Given the description of an element on the screen output the (x, y) to click on. 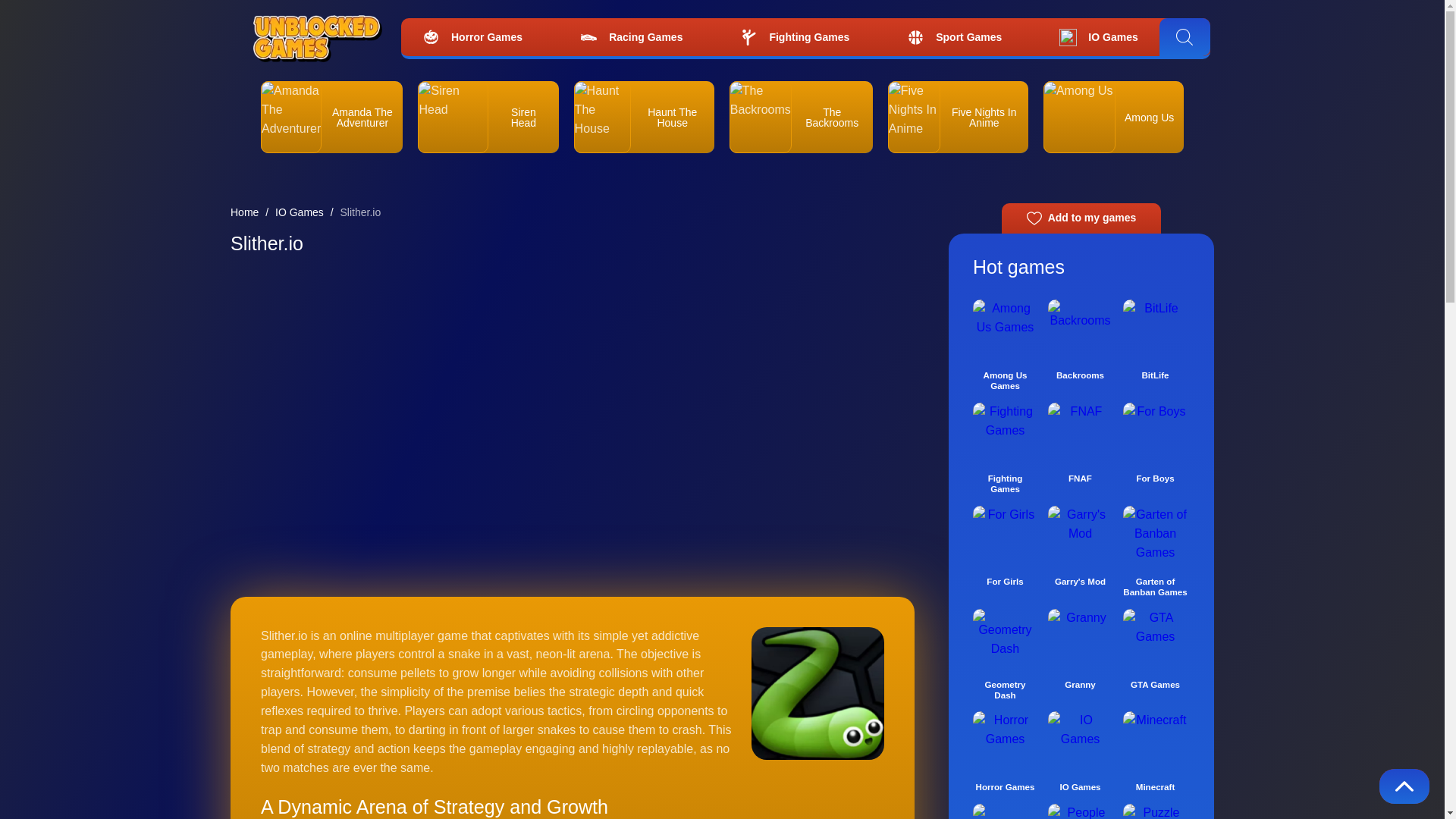
Siren Head (522, 117)
Home (244, 212)
Haunt The House (672, 117)
People Playground Games (1080, 811)
Among Us (1148, 117)
Fighting Games (794, 37)
Sport Games (954, 37)
Racing Games (631, 37)
Five Nights In Anime (983, 117)
IO Games (299, 212)
